Given the description of an element on the screen output the (x, y) to click on. 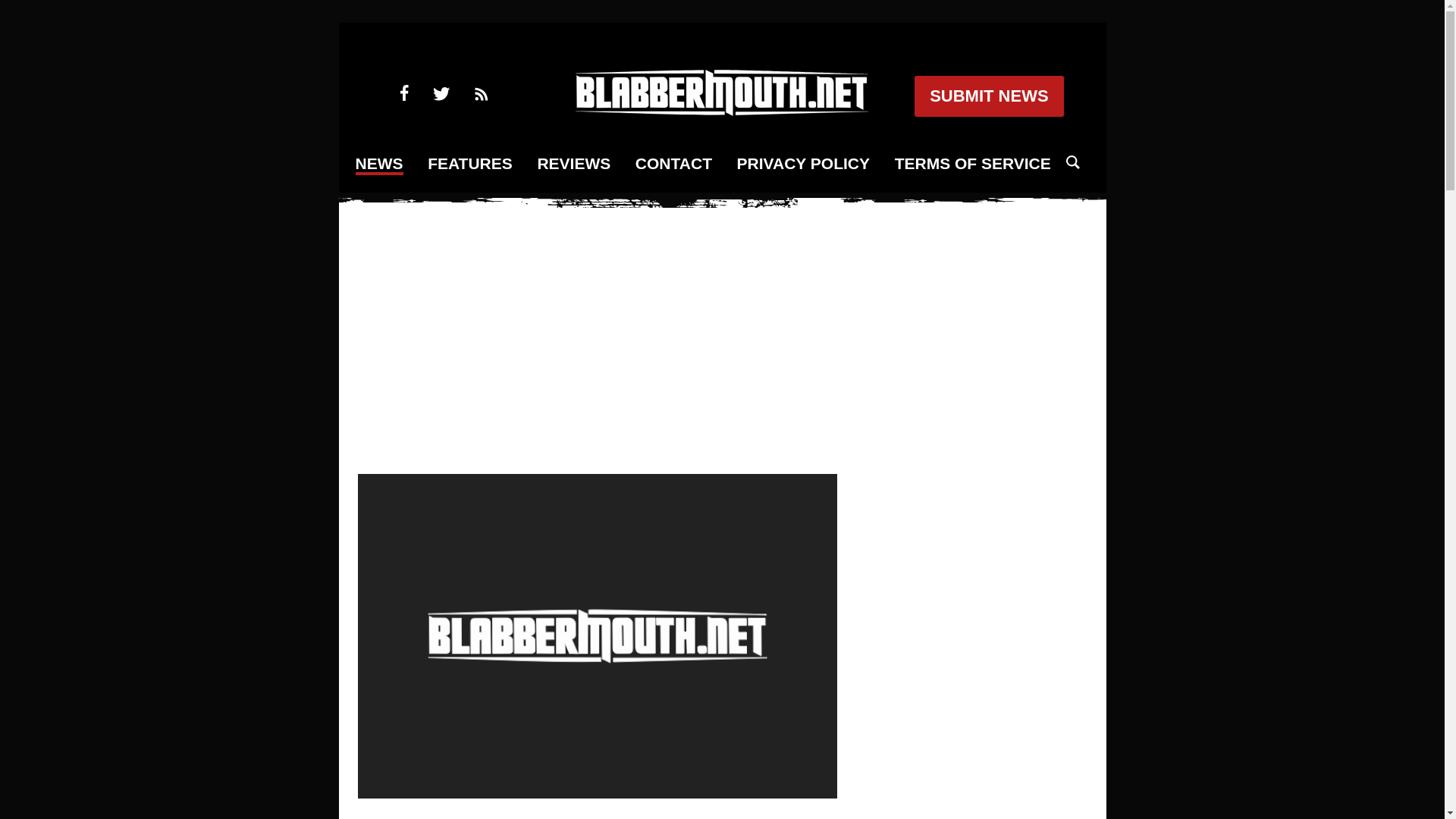
FEATURES (470, 163)
TERMS OF SERVICE (973, 163)
CONTACT (672, 163)
NEWS (379, 164)
search icon (1072, 161)
blabbermouth (721, 110)
SUBMIT NEWS (988, 96)
REVIEWS (573, 163)
PRIVACY POLICY (802, 163)
